Given the description of an element on the screen output the (x, y) to click on. 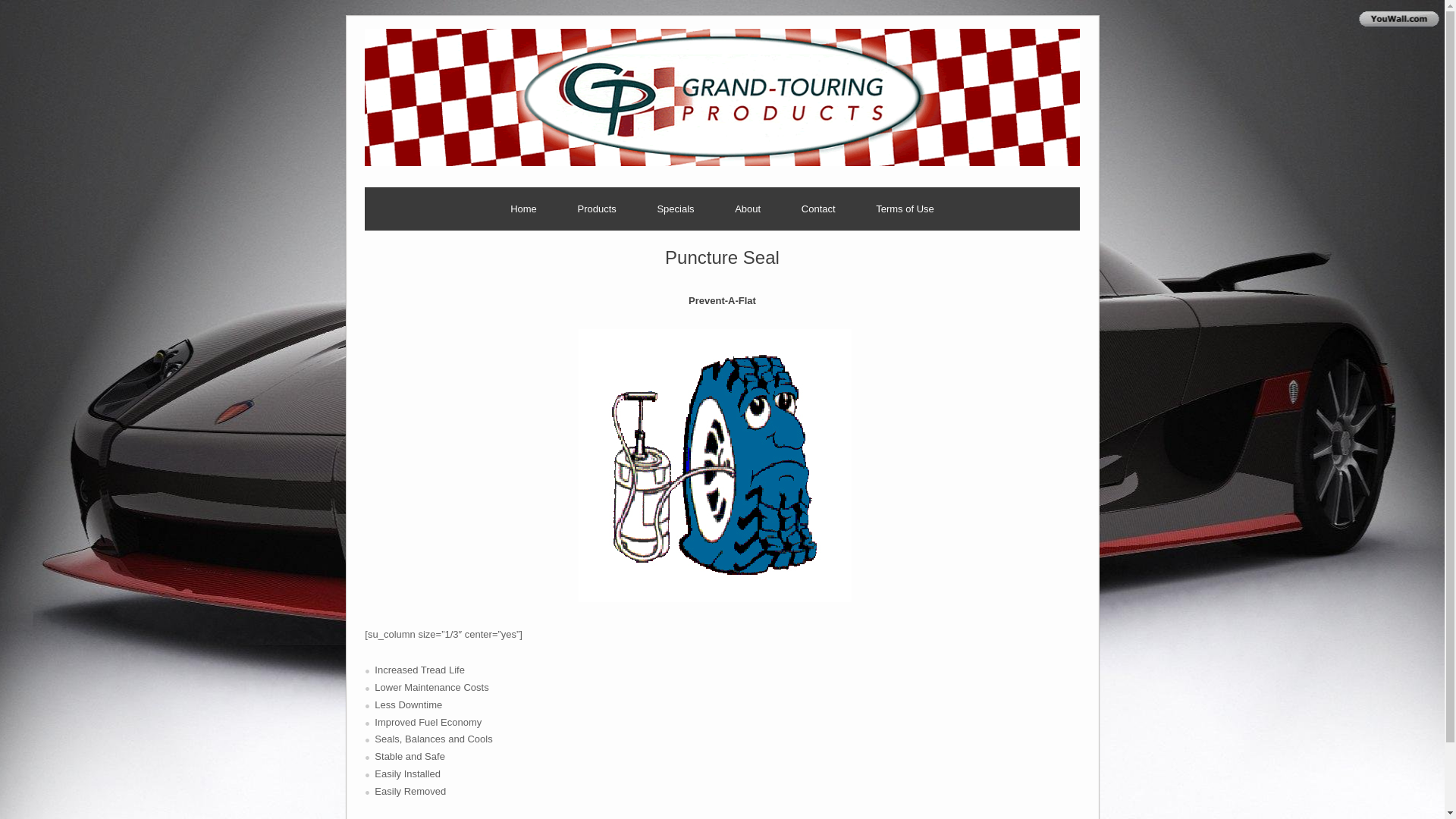
Contact Element type: text (818, 208)
Home Element type: text (523, 208)
Products Element type: text (596, 208)
About Element type: text (747, 208)
Specials Element type: text (674, 208)
Terms of Use Element type: text (904, 208)
